Given the description of an element on the screen output the (x, y) to click on. 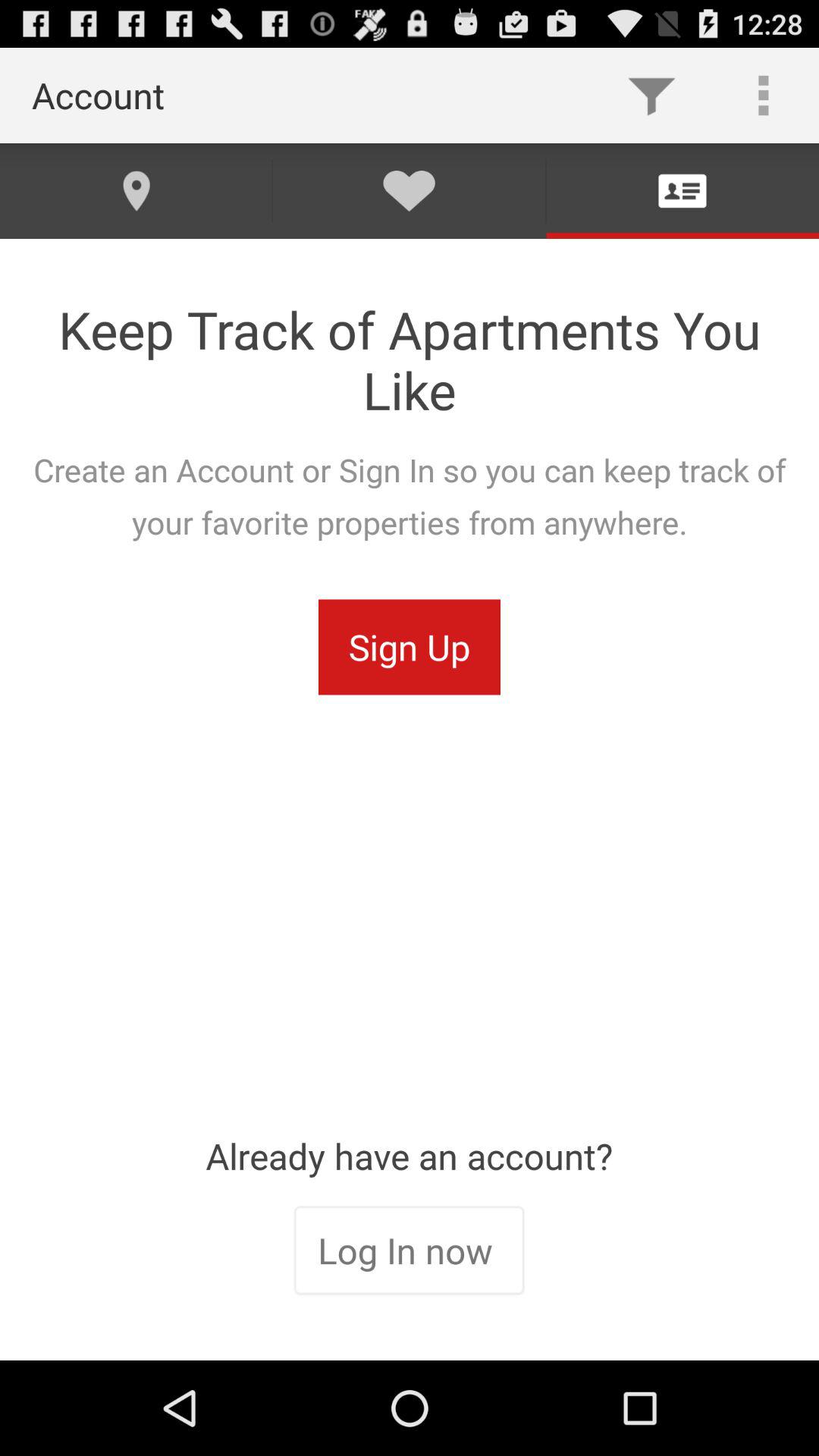
click item below the create an account icon (409, 647)
